Given the description of an element on the screen output the (x, y) to click on. 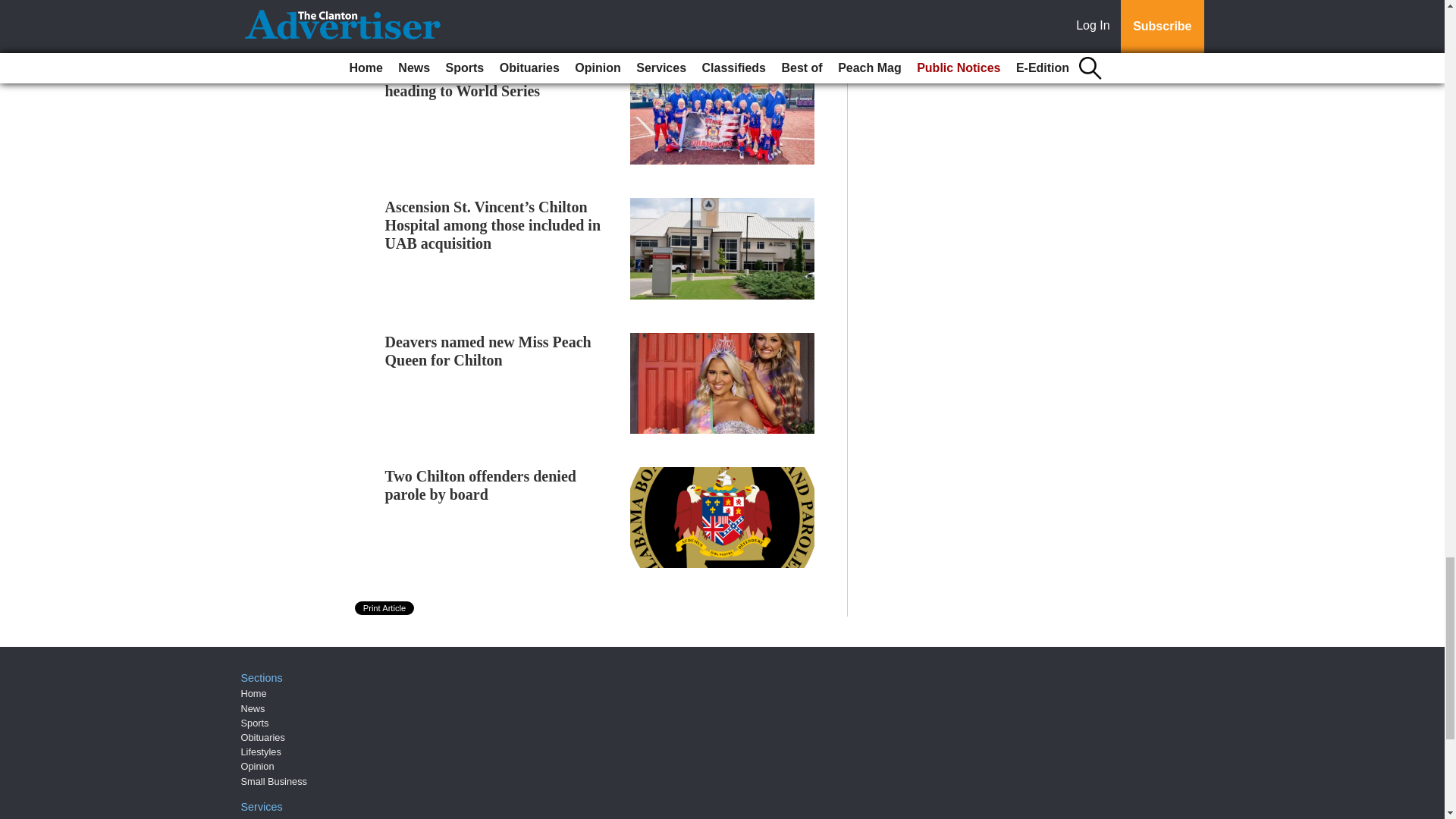
Clanton youth softball teams heading to World Series (478, 81)
Clanton youth softball teams heading to World Series (478, 81)
Deavers named new Miss Peach Queen for Chilton (488, 350)
Two Chilton offenders denied parole by board (480, 484)
Two Chilton offenders denied parole by board (480, 484)
Print Article (384, 608)
Deavers named new Miss Peach Queen for Chilton (488, 350)
Home (253, 693)
